Given the description of an element on the screen output the (x, y) to click on. 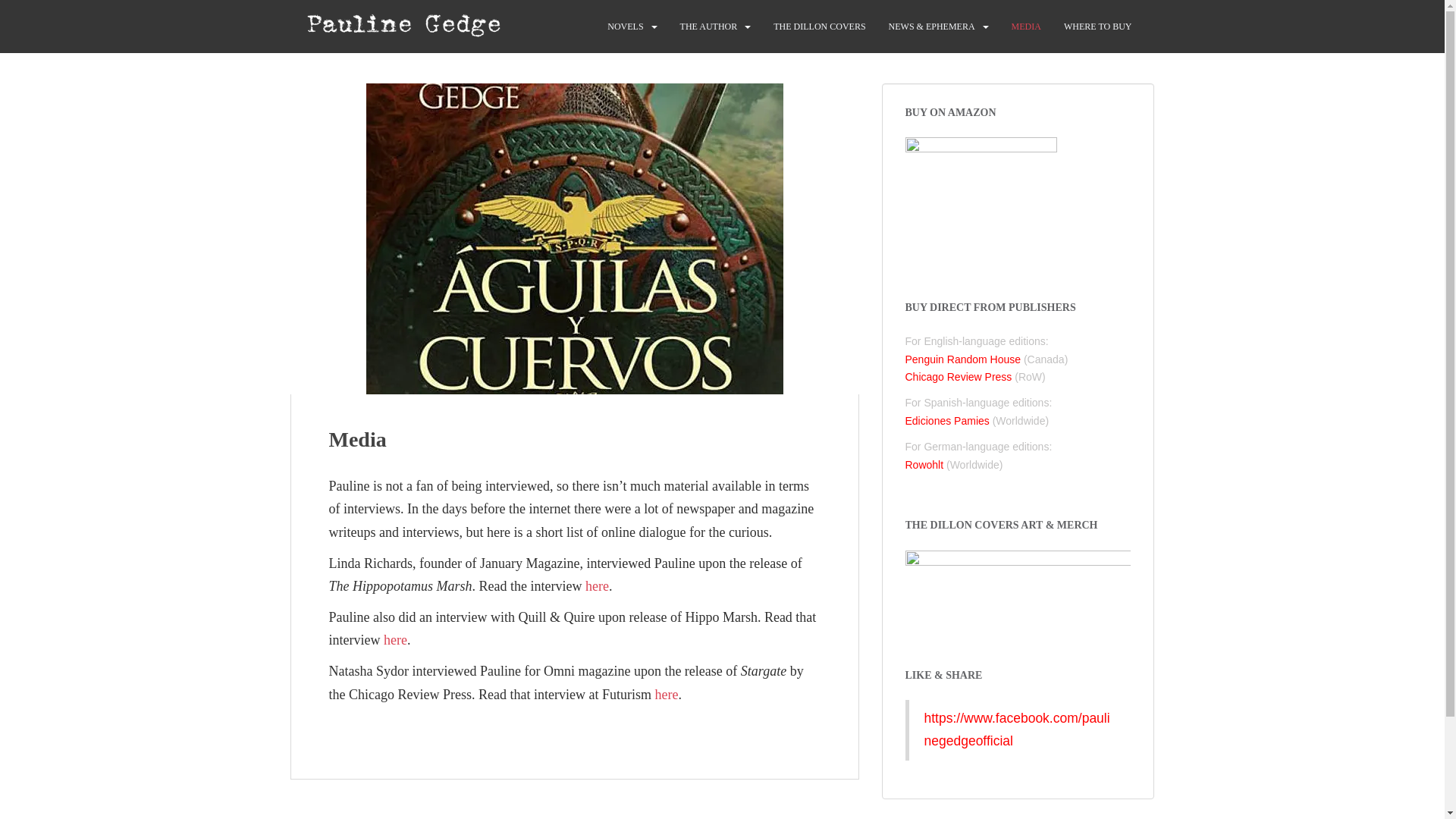
NOVELS (625, 26)
WHERE TO BUY (1098, 26)
THE AUTHOR (708, 26)
here (395, 639)
Buy Merch (1018, 590)
MEDIA (1026, 26)
here (596, 585)
THE DILLON COVERS (818, 26)
